Given the description of an element on the screen output the (x, y) to click on. 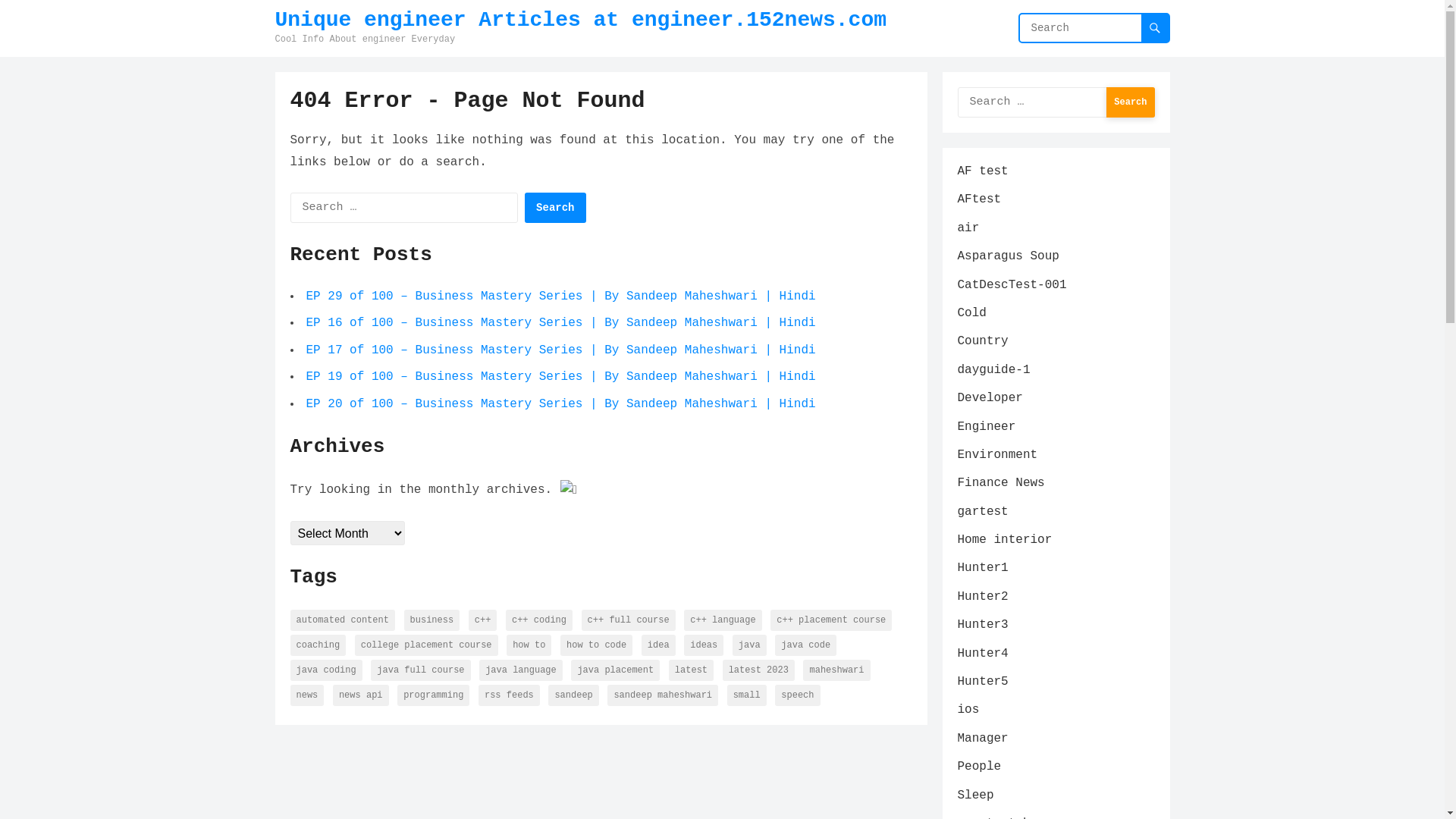
air Element type: text (968, 228)
Cold Element type: text (971, 313)
c++ Element type: text (482, 619)
Manager Element type: text (982, 738)
Hunter3 Element type: text (982, 624)
java full course Element type: text (420, 669)
news api Element type: text (360, 695)
programming Element type: text (433, 695)
dayguide-1 Element type: text (993, 369)
c++ language Element type: text (722, 619)
AFtest Element type: text (979, 199)
latest Element type: text (690, 669)
People Element type: text (979, 766)
maheshwari Element type: text (836, 669)
Engineer Element type: text (986, 426)
how to Element type: text (528, 644)
college placement course Element type: text (426, 644)
latest 2023 Element type: text (758, 669)
Hunter4 Element type: text (982, 653)
Environment Element type: text (997, 454)
rss feeds Element type: text (508, 695)
Search Element type: text (1130, 102)
sandeep Element type: text (573, 695)
Asparagus Soup Element type: text (1007, 256)
ideas Element type: text (703, 644)
c++ coding Element type: text (538, 619)
CatDescTest-001 Element type: text (1011, 284)
business Element type: text (432, 619)
how to code Element type: text (596, 644)
coaching Element type: text (317, 644)
ios Element type: text (968, 709)
AF test Element type: text (982, 171)
Hunter1 Element type: text (982, 567)
news Element type: text (306, 695)
Hunter2 Element type: text (982, 596)
Developer Element type: text (989, 397)
java coding Element type: text (325, 669)
java placement Element type: text (615, 669)
idea Element type: text (658, 644)
java Element type: text (749, 644)
Sleep Element type: text (975, 795)
Finance News Element type: text (1000, 482)
Country Element type: text (982, 341)
c++ placement course Element type: text (830, 619)
speech Element type: text (797, 695)
Search Element type: text (554, 207)
automated content Element type: text (341, 619)
sandeep maheshwari Element type: text (662, 695)
Hunter5 Element type: text (982, 681)
gartest Element type: text (982, 511)
java code Element type: text (805, 644)
c++ full course Element type: text (628, 619)
Unique engineer Articles at engineer.152news.com Element type: text (580, 20)
Home interior Element type: text (1004, 539)
small Element type: text (746, 695)
java language Element type: text (520, 669)
